Given the description of an element on the screen output the (x, y) to click on. 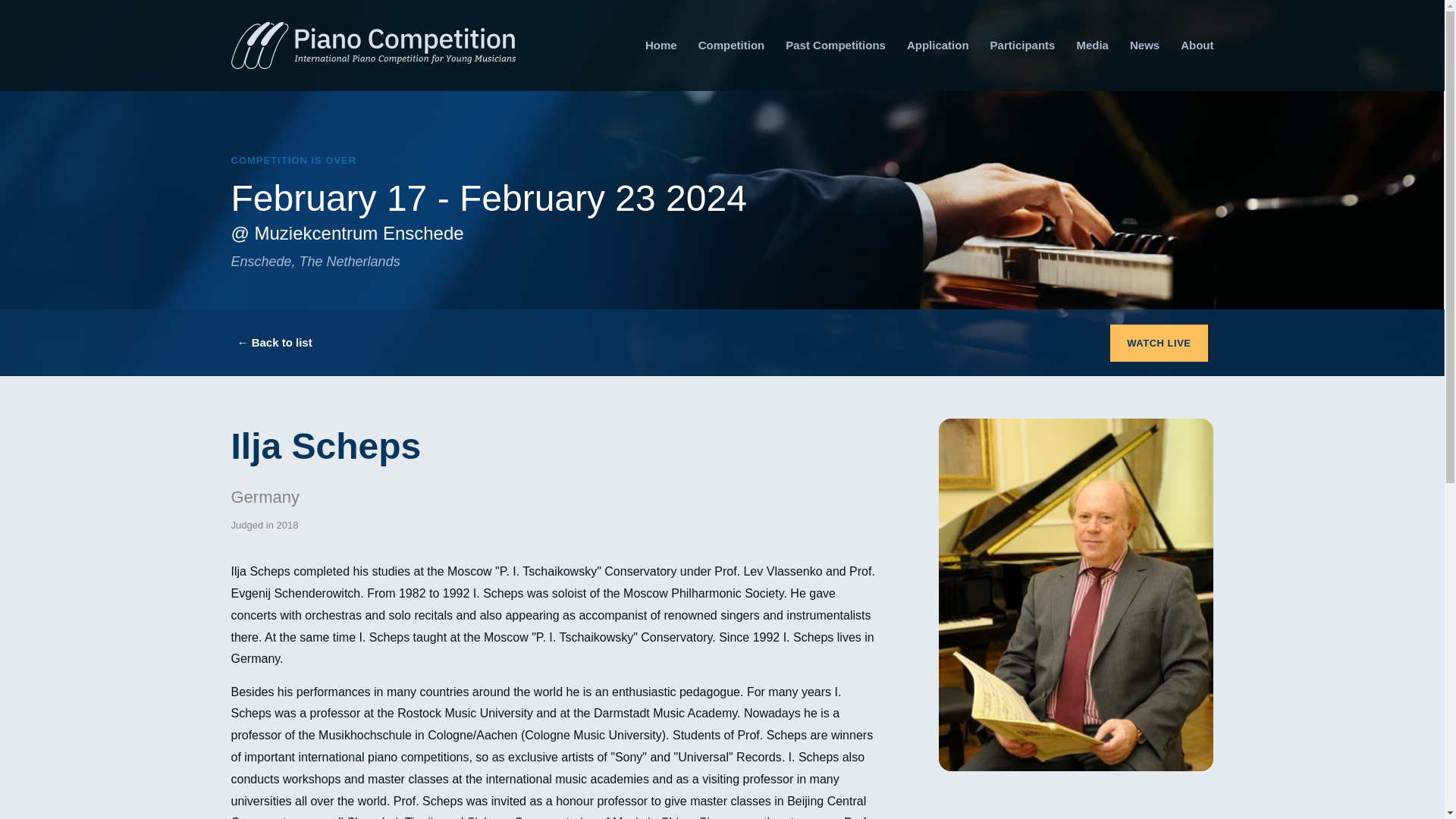
Past Competitions (835, 45)
About (1196, 45)
Participants (1022, 45)
Home (661, 45)
Media (1091, 45)
Competition (731, 45)
Application (938, 45)
WATCH LIVE (1158, 342)
